Given the description of an element on the screen output the (x, y) to click on. 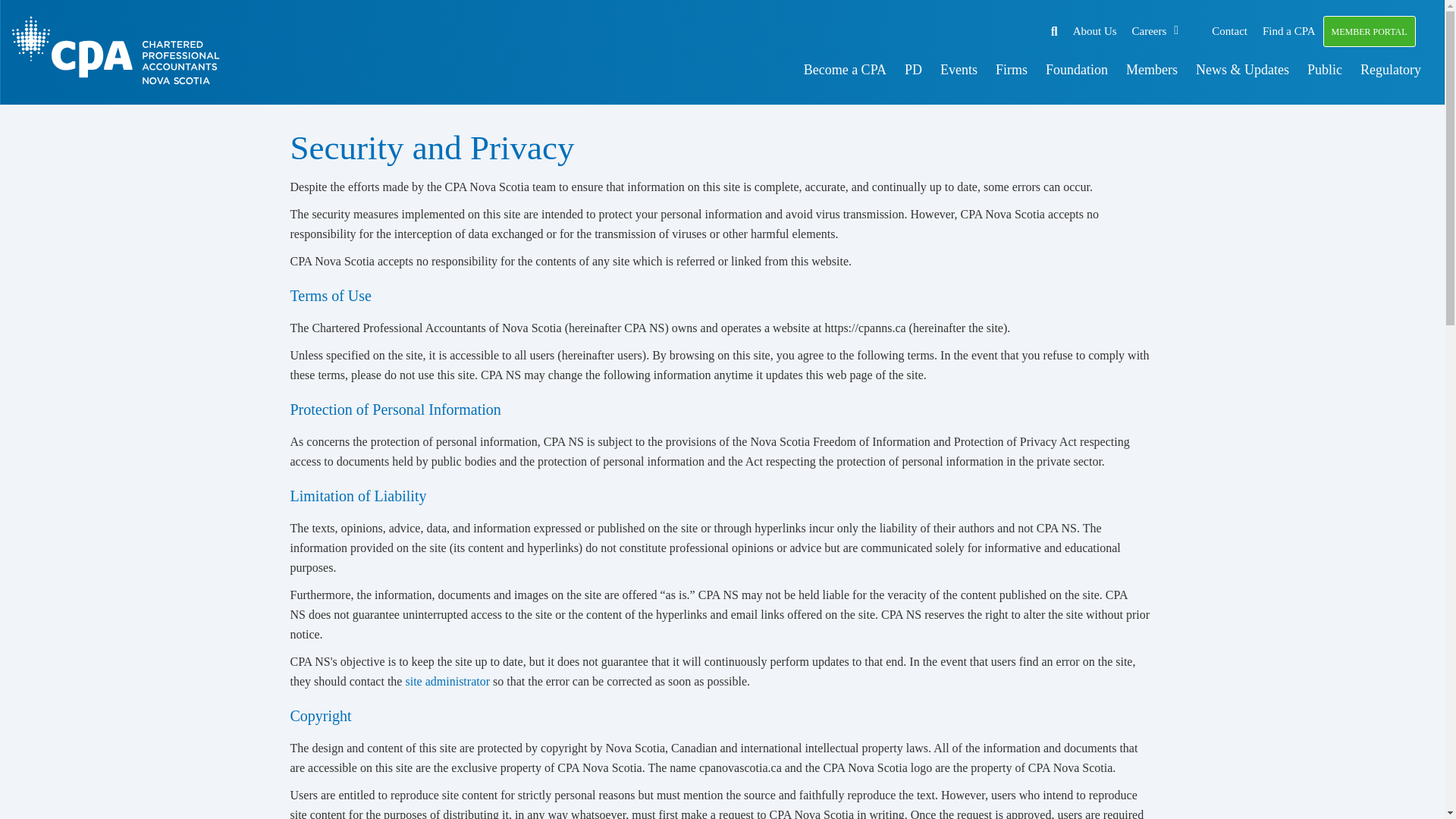
Contact (1229, 30)
Events (959, 63)
About Us (1094, 30)
site administrator (446, 680)
Members (1151, 63)
CPA Nova Scotia Logo (121, 51)
Find a CPA (1288, 30)
Become a CPA (844, 63)
Public (1324, 63)
PD (913, 63)
